Given the description of an element on the screen output the (x, y) to click on. 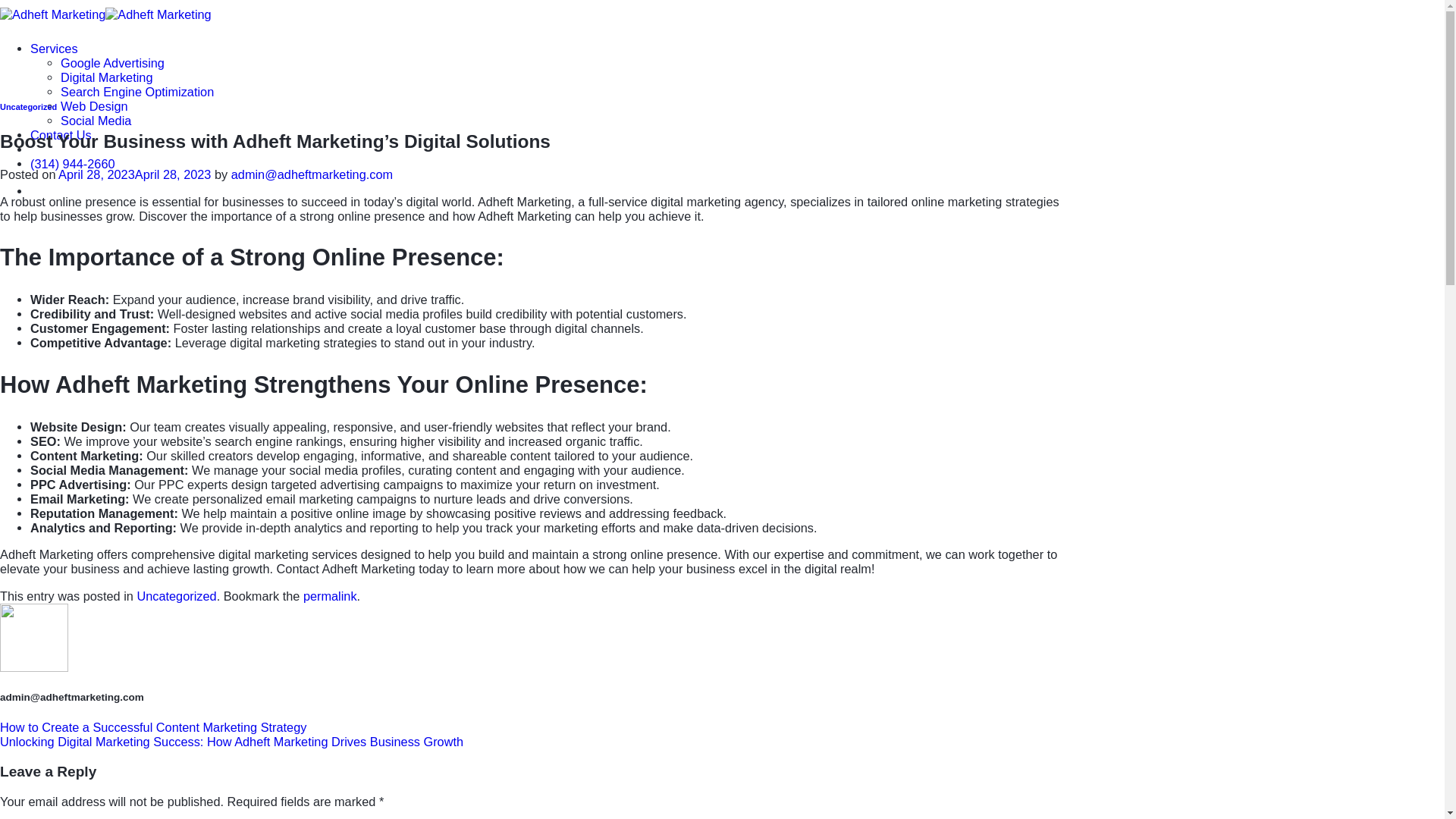
Contact Us (60, 134)
permalink (329, 595)
Digital Marketing (106, 77)
Google Advertising (112, 62)
Uncategorized (28, 106)
Adheft Marketing (105, 14)
Social Media (96, 120)
Uncategorized (175, 595)
Search Engine Optimization (137, 91)
April 28, 2023April 28, 2023 (134, 173)
Web Design (94, 106)
Services (54, 48)
How to Create a Successful Content Marketing Strategy (152, 726)
